Given the description of an element on the screen output the (x, y) to click on. 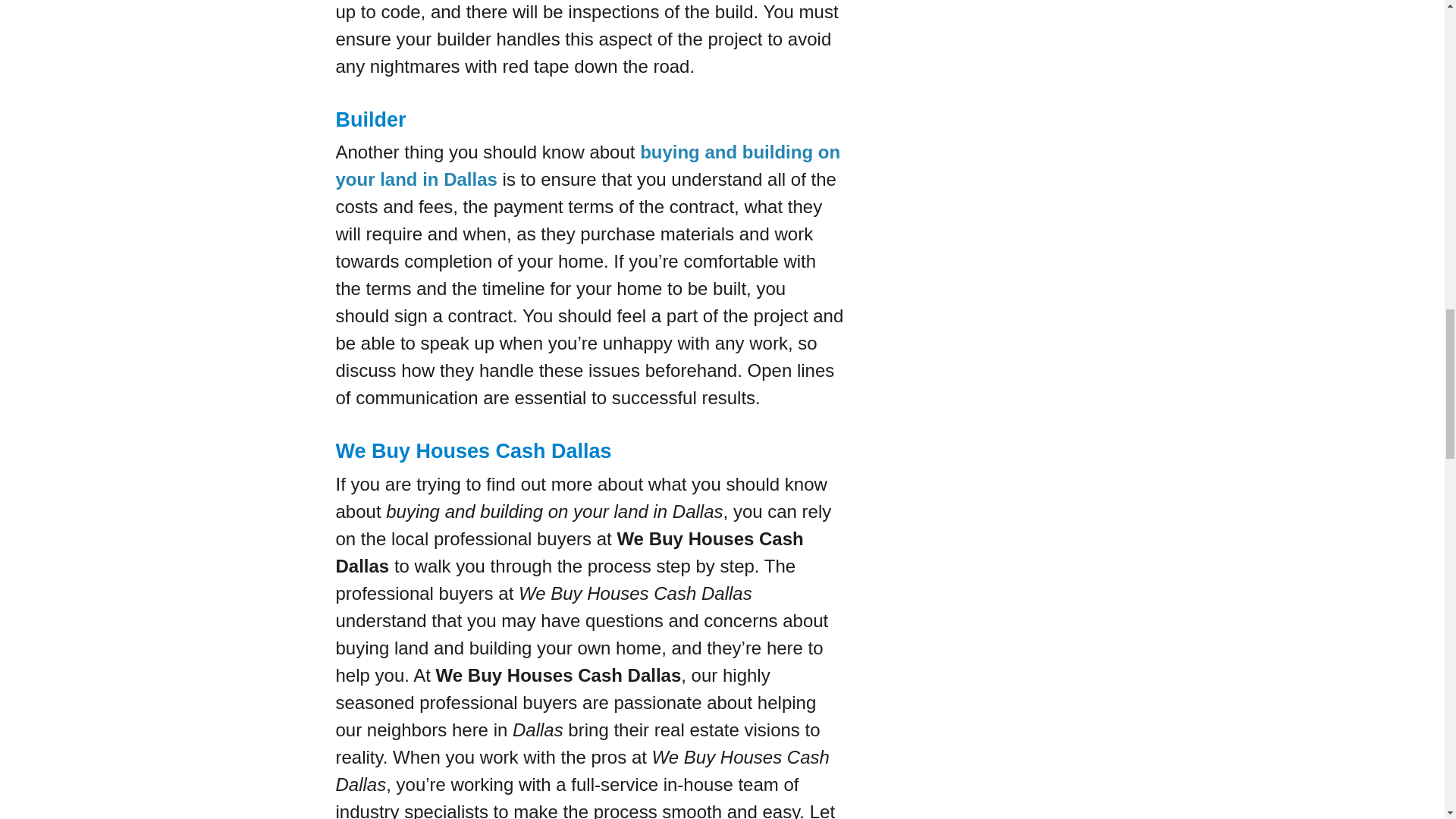
buying and building on your land in Dallas (587, 165)
